Given the description of an element on the screen output the (x, y) to click on. 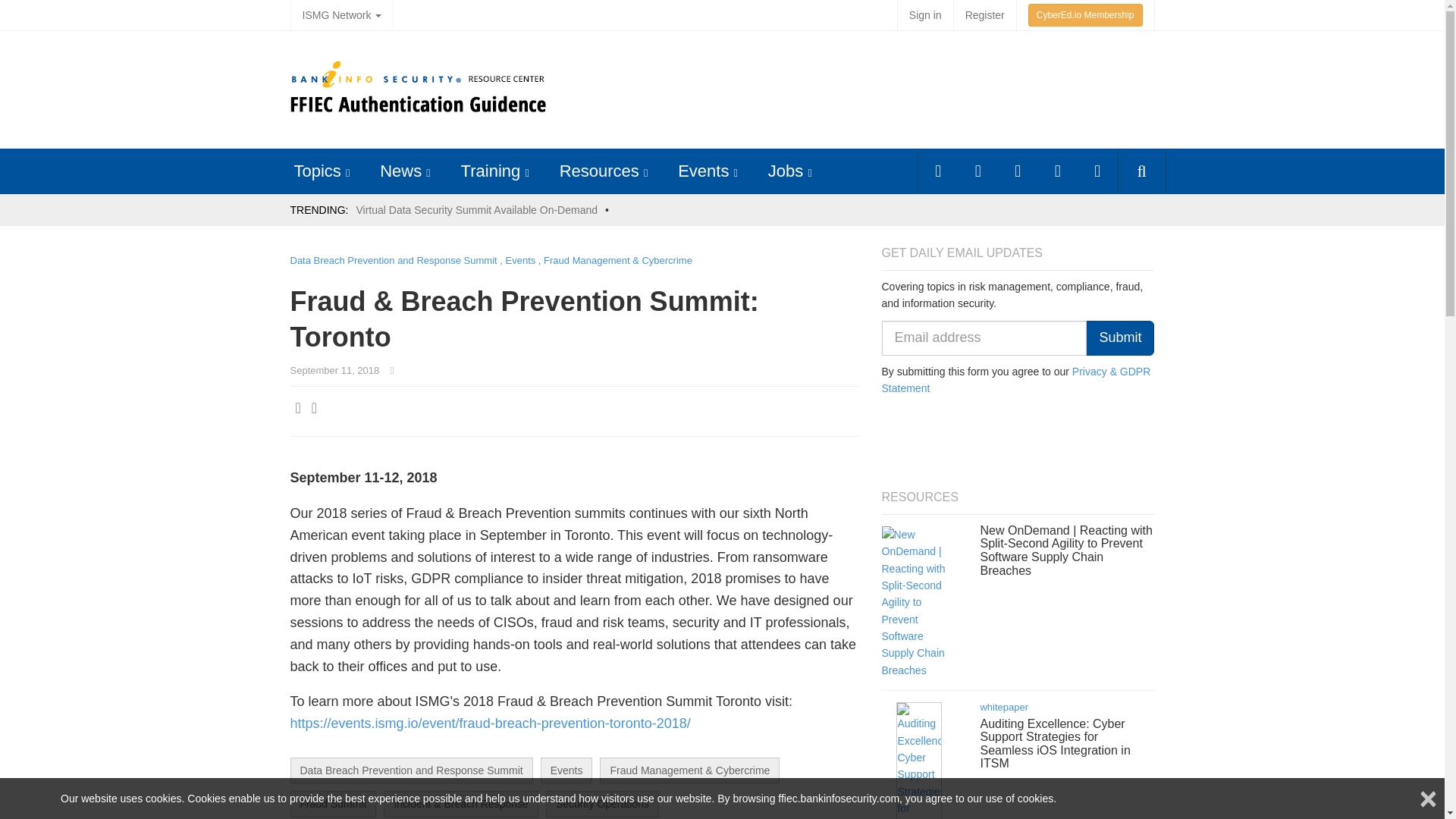
ISMG Network (341, 15)
Topics (317, 170)
News (401, 170)
Sign in (925, 15)
Register (984, 15)
CyberEd.io Membership (1084, 15)
